Given the description of an element on the screen output the (x, y) to click on. 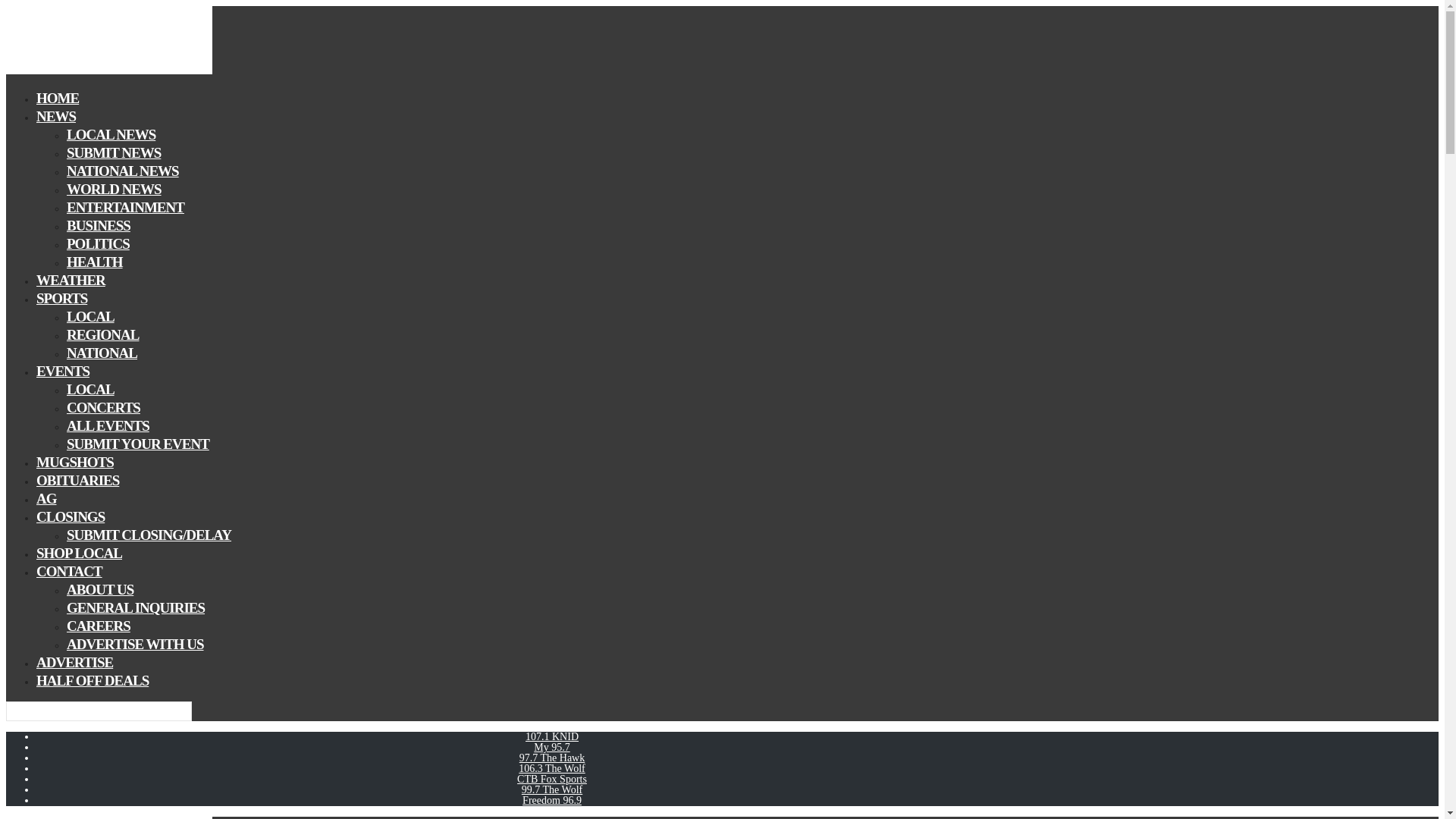
WORLD NEWS (113, 188)
CLOSINGS (70, 516)
WEATHER (70, 280)
GENERAL INQUIRIES (135, 608)
LOCAL (90, 316)
NATIONAL NEWS (122, 170)
REGIONAL (102, 334)
AG (46, 498)
CONCERTS (102, 407)
EnidLIVE! (108, 70)
SUBMIT NEWS (113, 152)
MUGSHOTS (74, 462)
NATIONAL (101, 352)
OBITUARIES (77, 480)
CONTACT (68, 571)
